Given the description of an element on the screen output the (x, y) to click on. 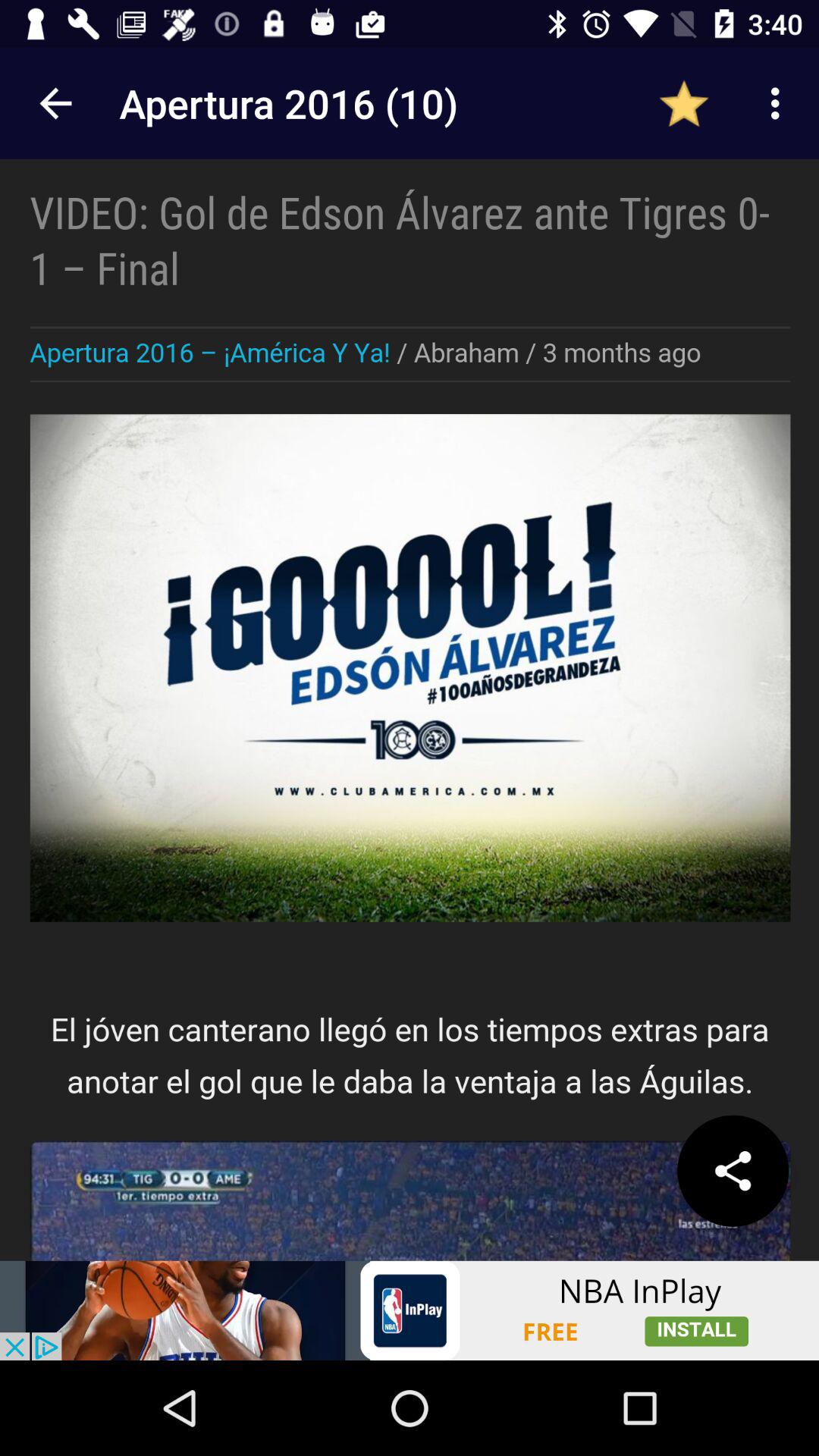
advertisement page (409, 1310)
